Given the description of an element on the screen output the (x, y) to click on. 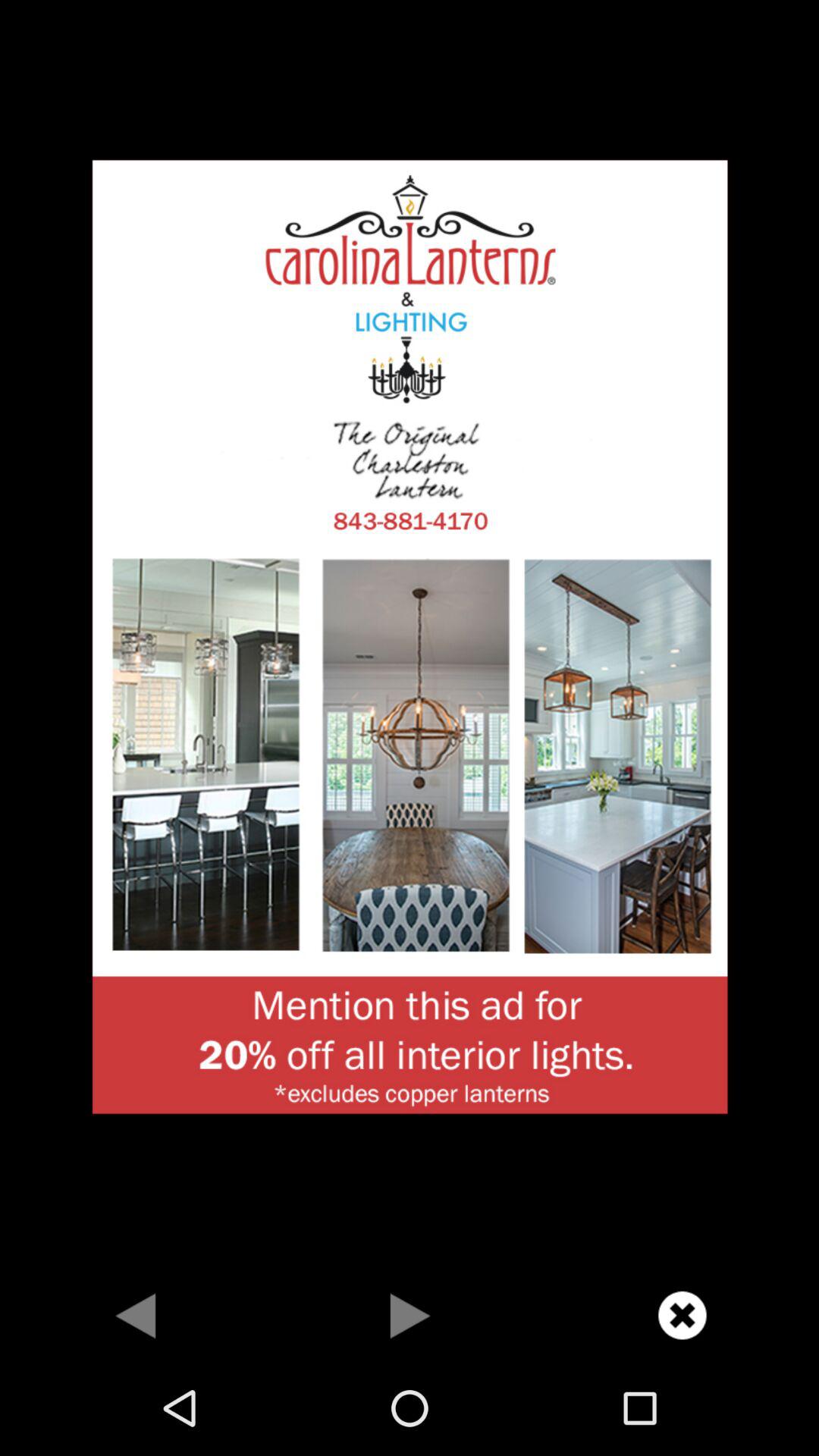
exit advertisement (682, 1315)
